Given the description of an element on the screen output the (x, y) to click on. 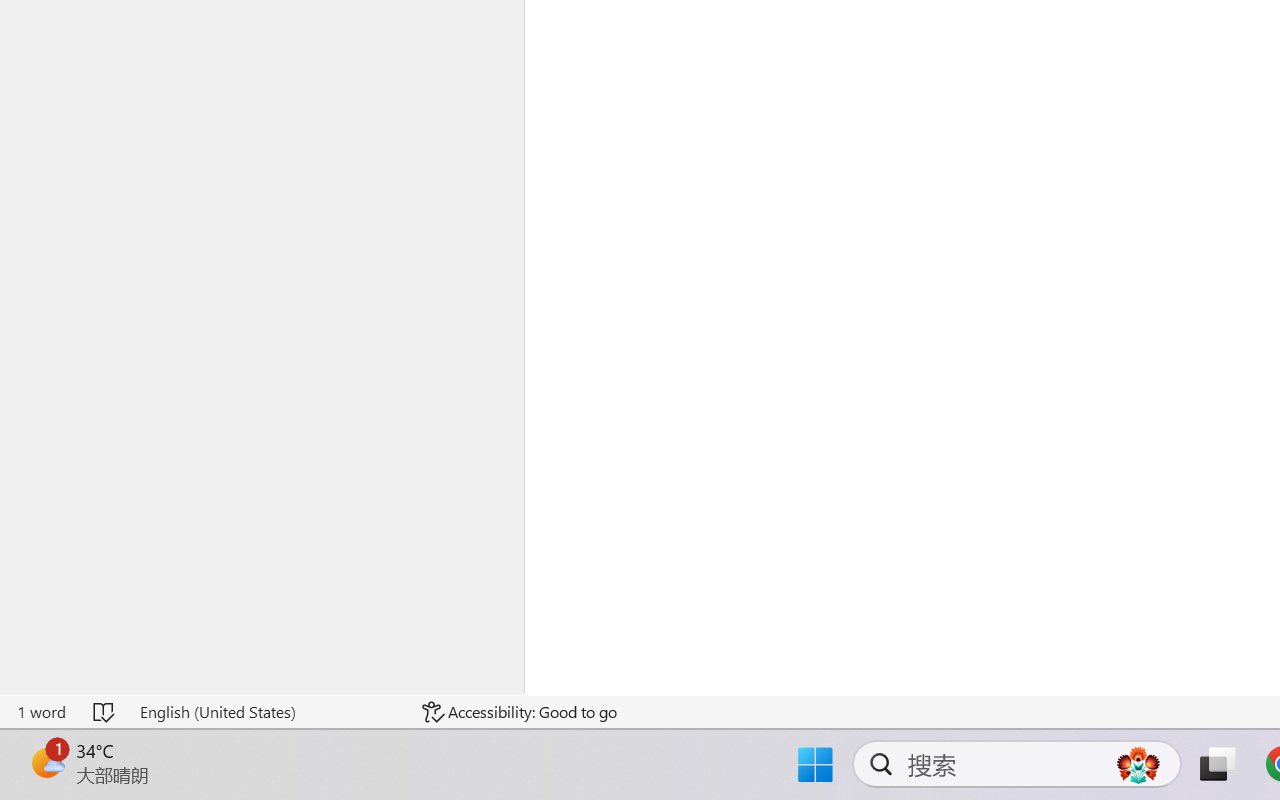
Language English (United States) (267, 712)
AutomationID: DynamicSearchBoxGleamImage (1138, 764)
AutomationID: BadgeAnchorLargeTicker (46, 762)
Accessibility Checker Accessibility: Good to go (519, 712)
Word Count 1 word (41, 712)
Spelling and Grammar Check No Errors (105, 712)
